Given the description of an element on the screen output the (x, y) to click on. 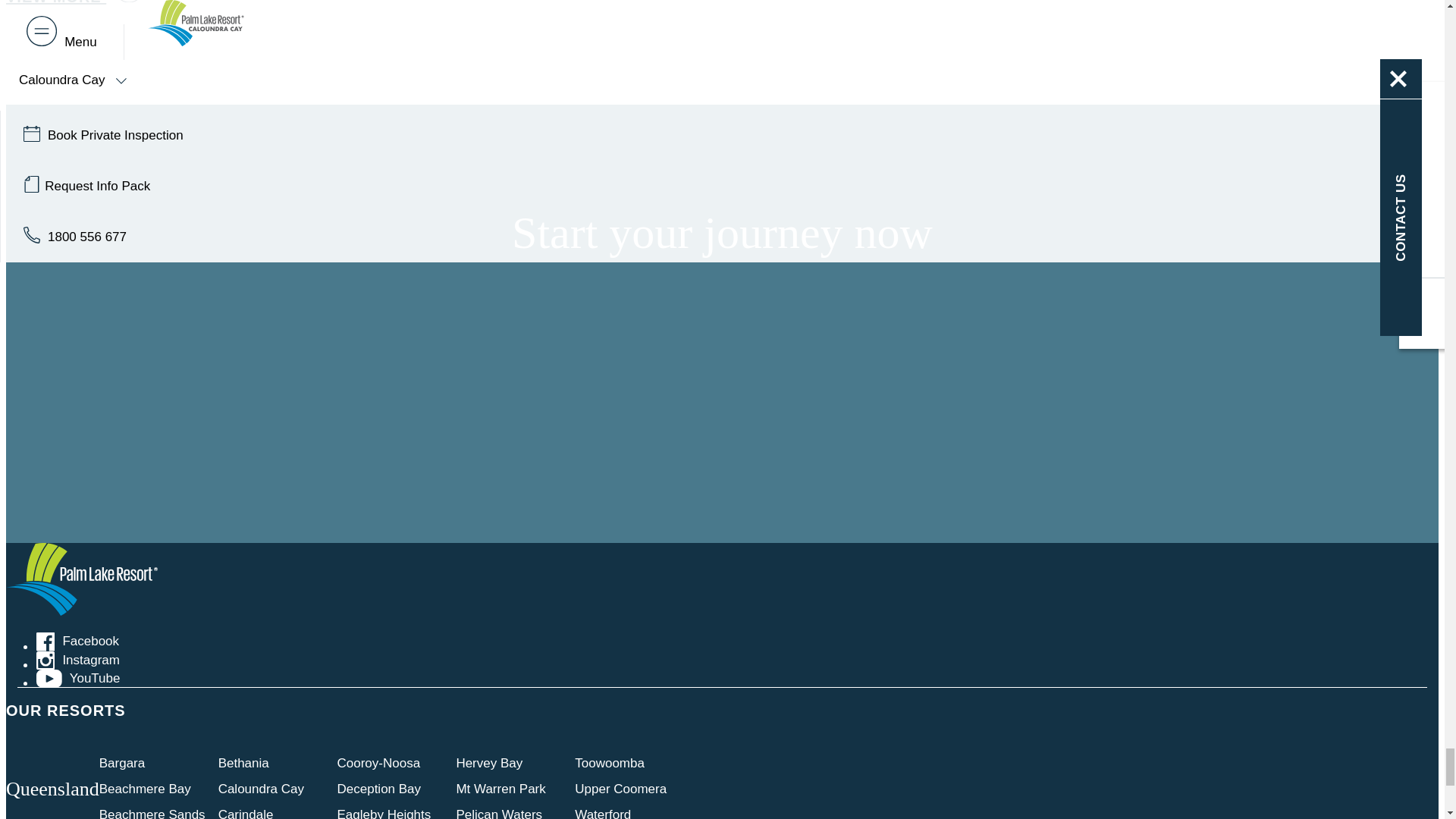
Palm Lake Resort (81, 611)
